Given the description of an element on the screen output the (x, y) to click on. 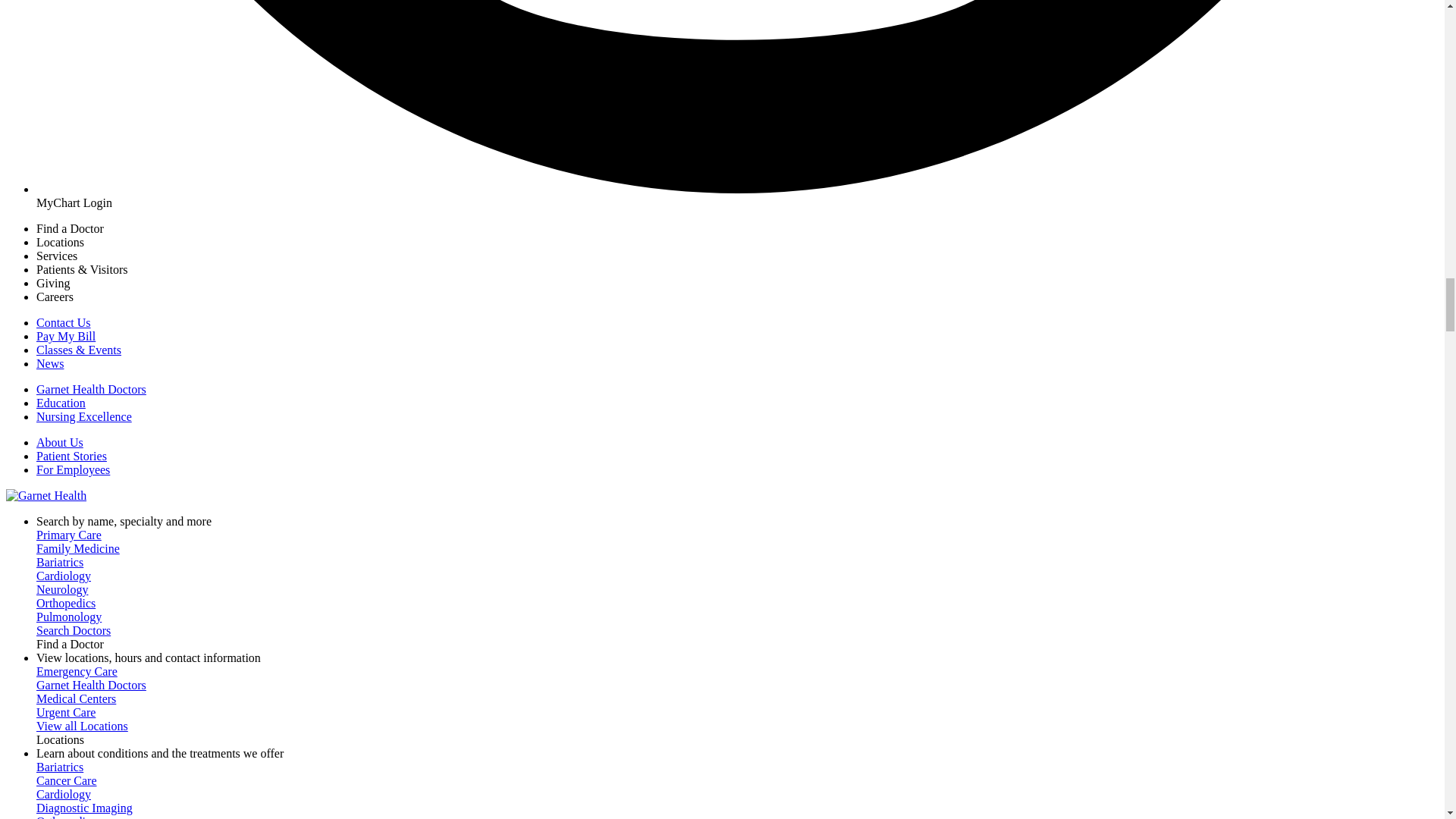
Garnet Health (45, 495)
